Given the description of an element on the screen output the (x, y) to click on. 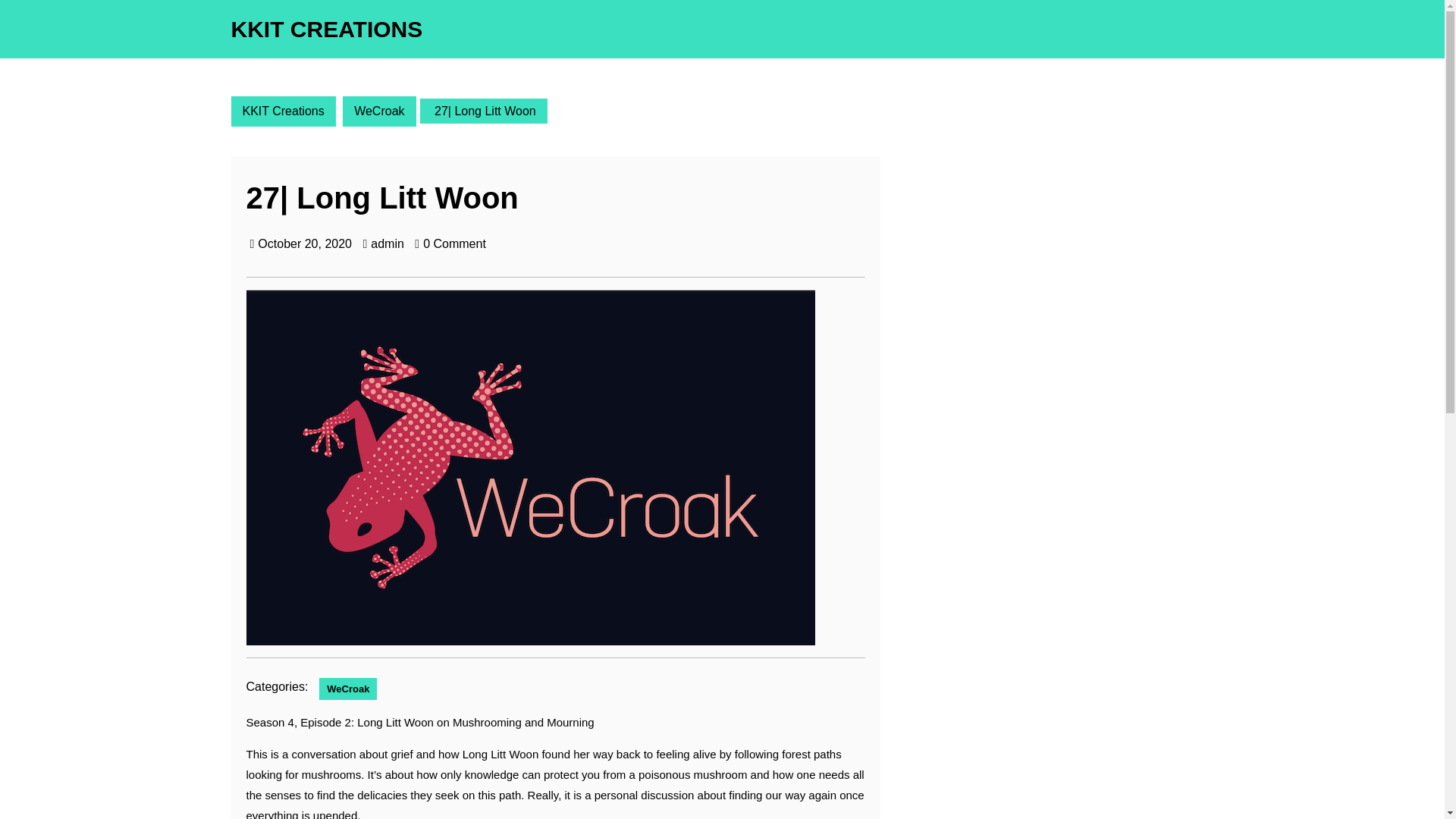
KKIT CREATIONS (326, 28)
admin (387, 243)
KKIT Creations (282, 111)
WeCroak (347, 689)
WeCroak (378, 111)
October 20, 2020 (304, 243)
